Given the description of an element on the screen output the (x, y) to click on. 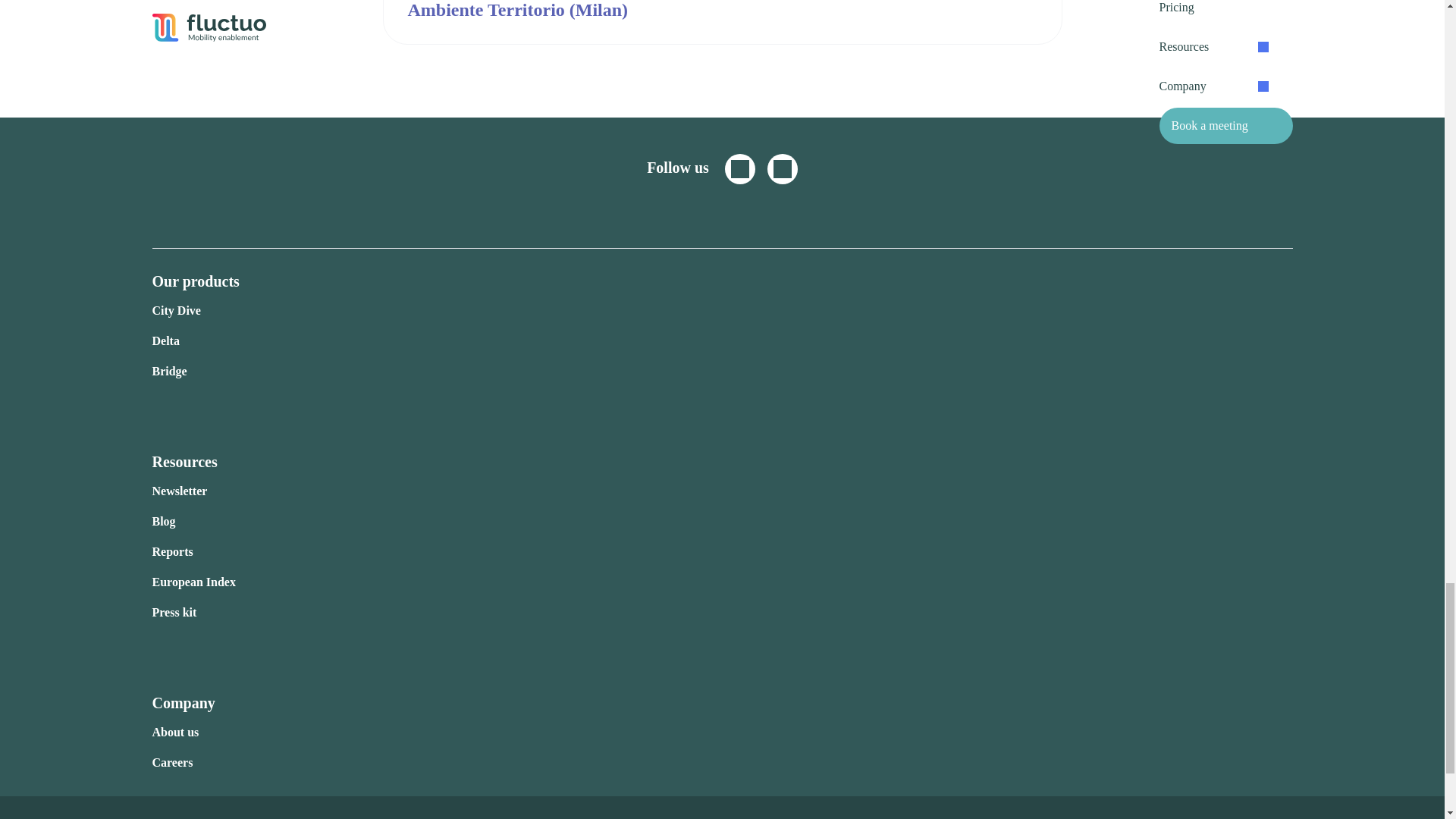
Blog (162, 521)
Reports (171, 551)
Careers (171, 762)
Press kit (173, 612)
About us (174, 731)
Delta (165, 340)
European Index (192, 581)
Bridge (168, 370)
Newsletter (178, 490)
City Dive (175, 309)
Twitter (740, 168)
Linkedin (782, 168)
